Given the description of an element on the screen output the (x, y) to click on. 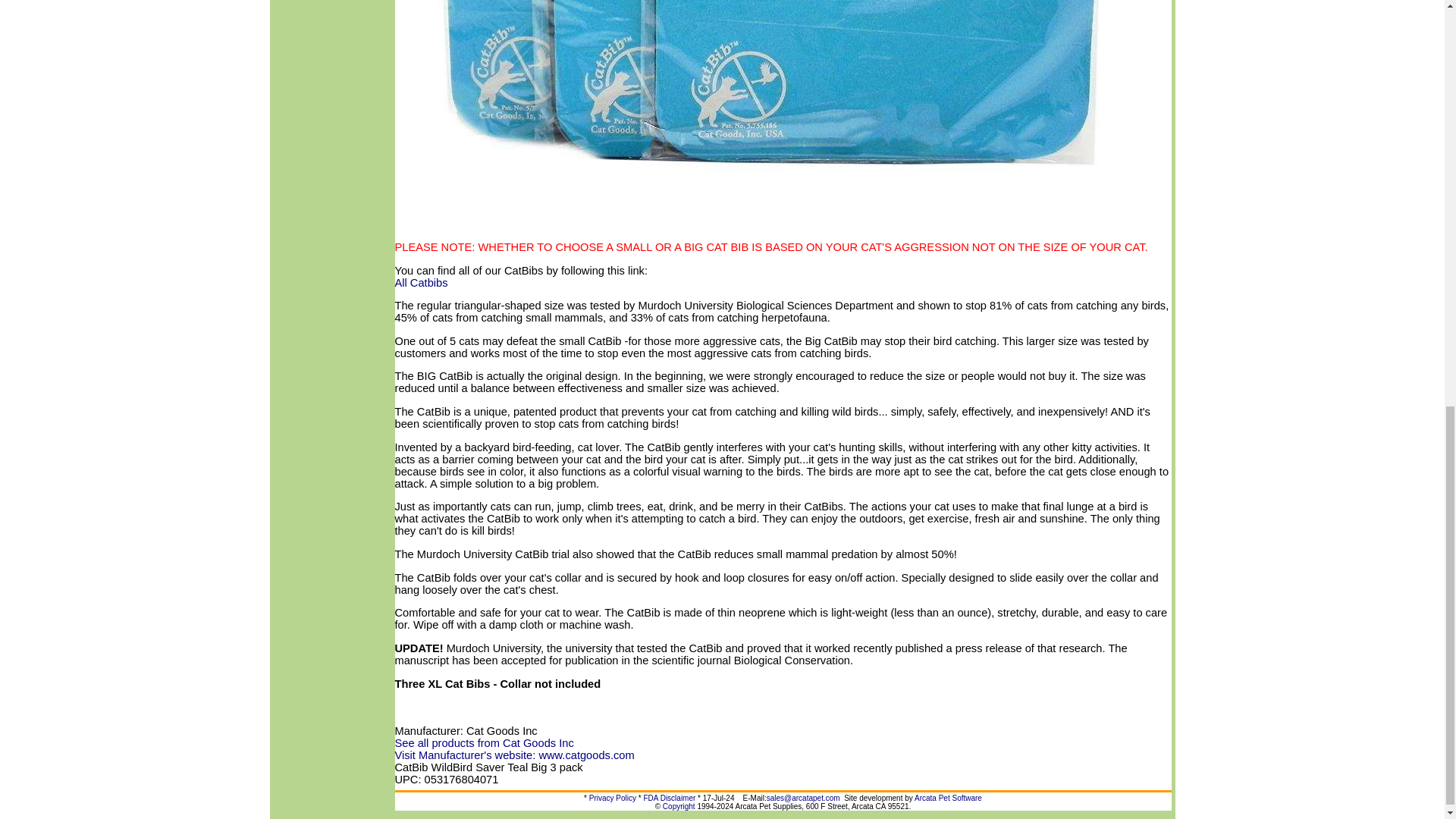
All Catbibs (420, 282)
FDA Disclaimer (669, 797)
Arcata Pet Software (947, 797)
See all products from Cat Goods Inc (483, 743)
Privacy Policy (612, 797)
Visit Manufacturer's website: www.catgoods.com (513, 755)
Copyright (678, 806)
